Given the description of an element on the screen output the (x, y) to click on. 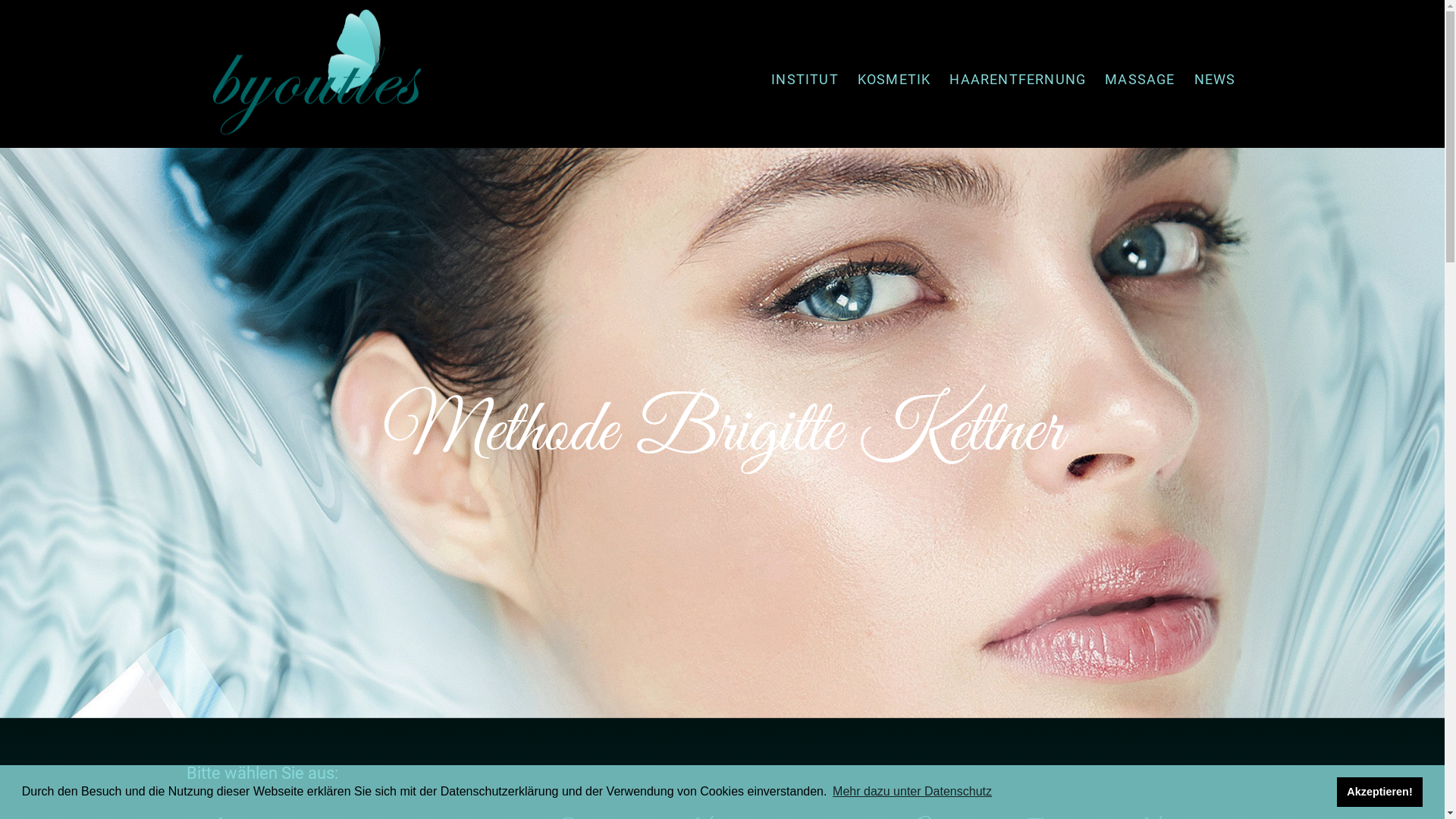
Akzeptieren! Element type: text (1379, 791)
Mehr dazu unter Datenschutz Element type: text (912, 791)
MASSAGE Element type: text (1139, 79)
HAARENTFERNUNG Element type: text (1017, 79)
NEWS Element type: text (1214, 79)
INSTITUT Element type: text (804, 79)
KOSMETIK Element type: text (894, 79)
